Given the description of an element on the screen output the (x, y) to click on. 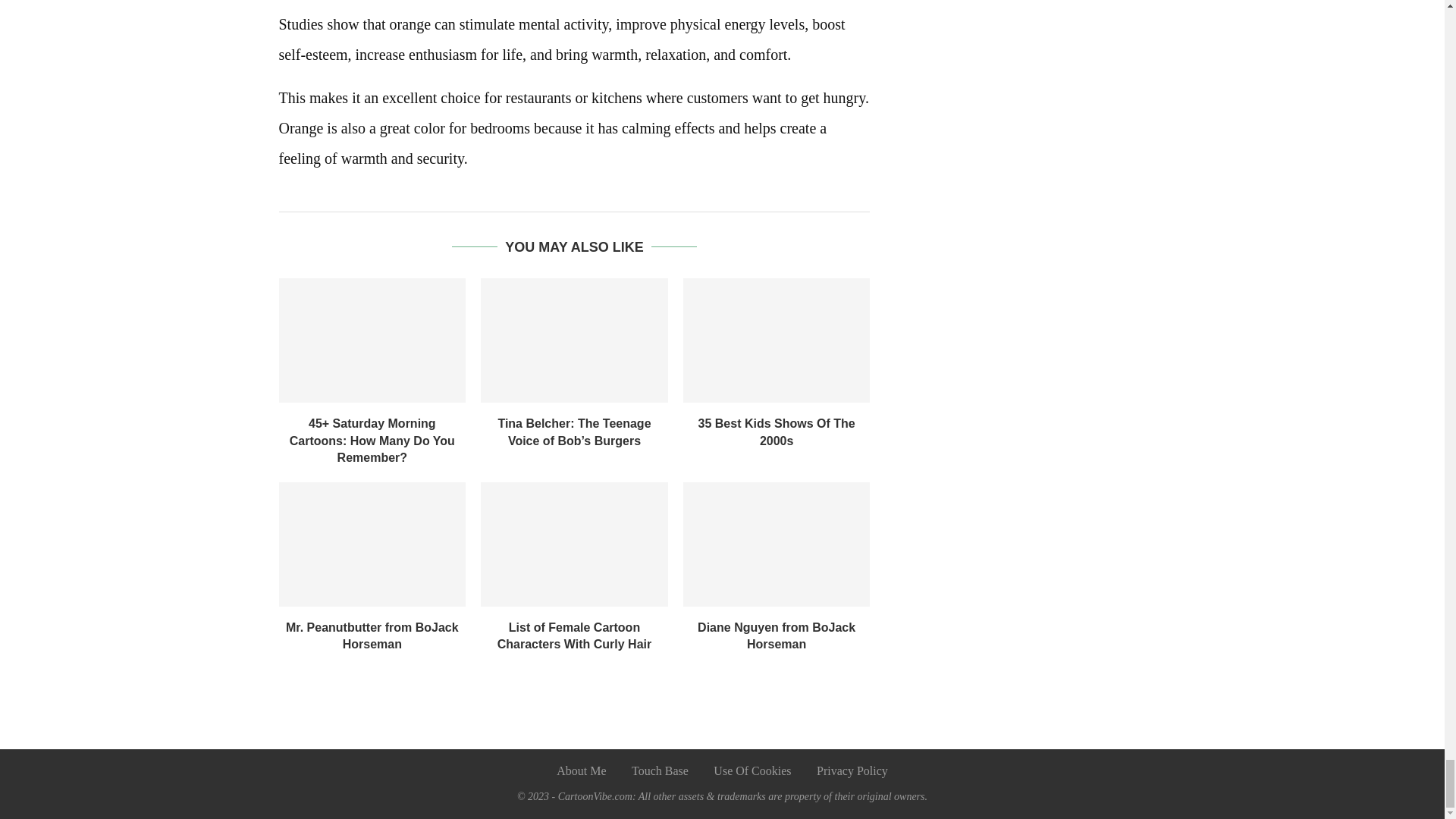
Mr. Peanutbutter from BoJack Horseman (372, 544)
Diane Nguyen from BoJack Horseman (776, 544)
35 Best Kids Shows Of The 2000s (776, 340)
Mr. Peanutbutter from BoJack Horseman (371, 635)
List of Female Cartoon Characters With Curly Hair (574, 544)
List of Female Cartoon Characters With Curly Hair (573, 635)
35 Best Kids Shows Of The 2000s (777, 431)
